Given the description of an element on the screen output the (x, y) to click on. 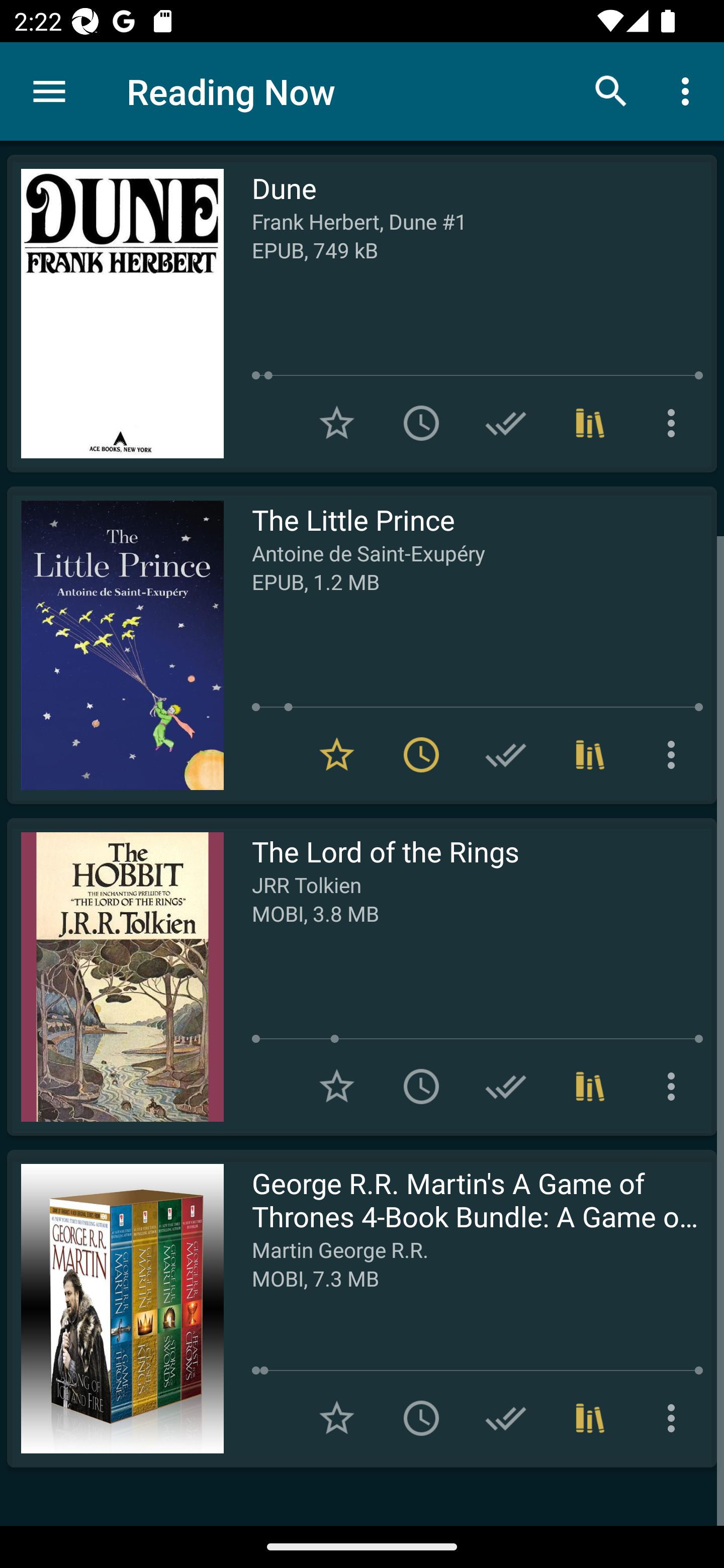
Menu (49, 91)
Search books & documents (611, 90)
More options (688, 90)
Read Dune (115, 313)
Add to Favorites (336, 423)
Add to To read (421, 423)
Add to Have read (505, 423)
Collections (1) (590, 423)
More options (674, 423)
Read The Little Prince (115, 645)
Remove from Favorites (336, 753)
Remove from To read (421, 753)
Add to Have read (505, 753)
Collections (1) (590, 753)
More options (674, 753)
Read The Lord of the Rings (115, 976)
Add to Favorites (336, 1086)
Add to To read (421, 1086)
Add to Have read (505, 1086)
Collections (1) (590, 1086)
More options (674, 1086)
Add to Favorites (336, 1417)
Add to To read (421, 1417)
Add to Have read (505, 1417)
Collections (1) (590, 1417)
More options (674, 1417)
